Given the description of an element on the screen output the (x, y) to click on. 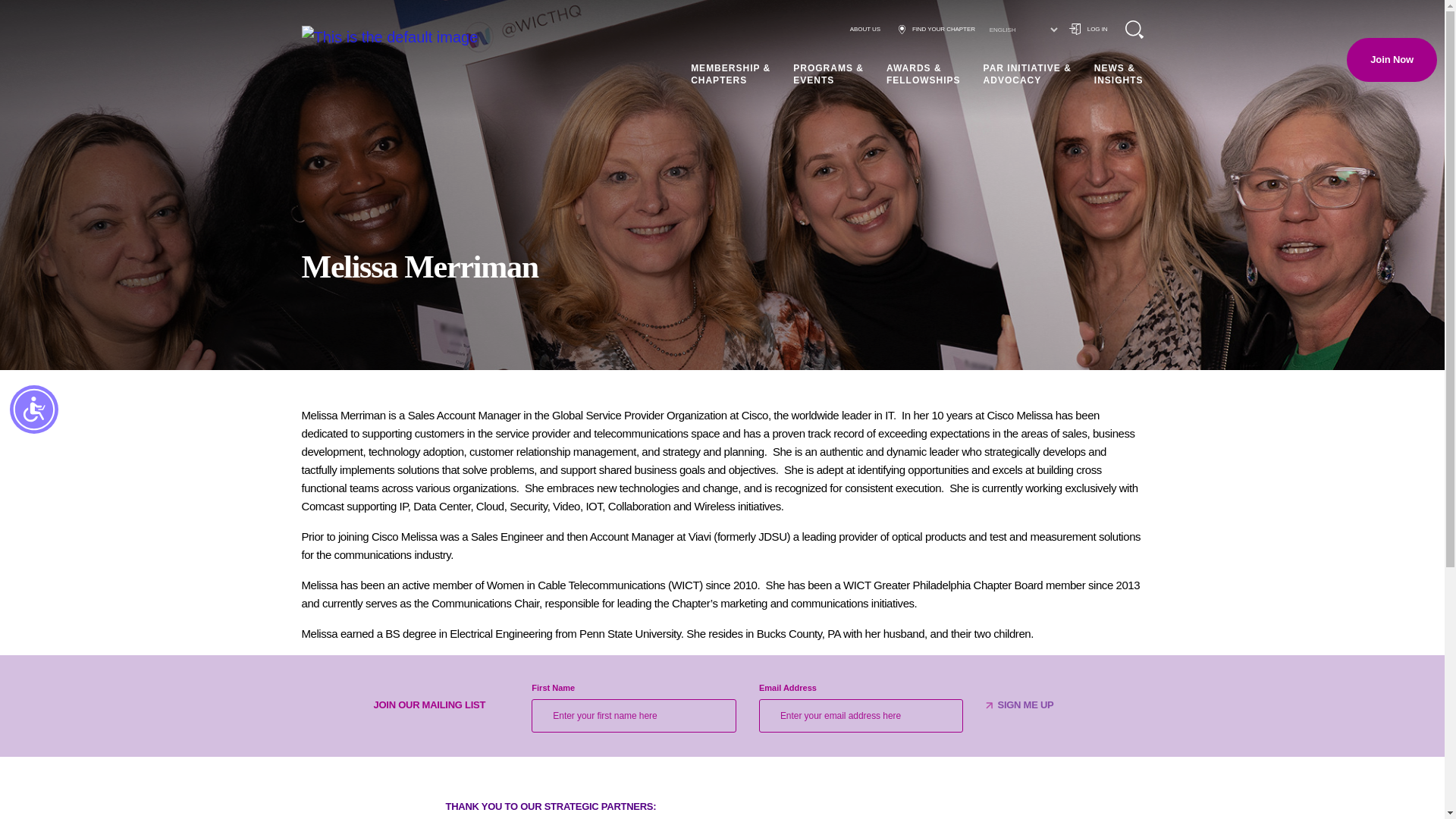
Skip to main content (24, 16)
LOG IN (1088, 29)
About Us (865, 29)
Join Now (1391, 59)
ABOUT US (865, 29)
Accessibility Menu (34, 409)
FIND YOUR CHAPTER (936, 29)
Sign Me up (1024, 704)
Find Your Chapter (936, 29)
